Given the description of an element on the screen output the (x, y) to click on. 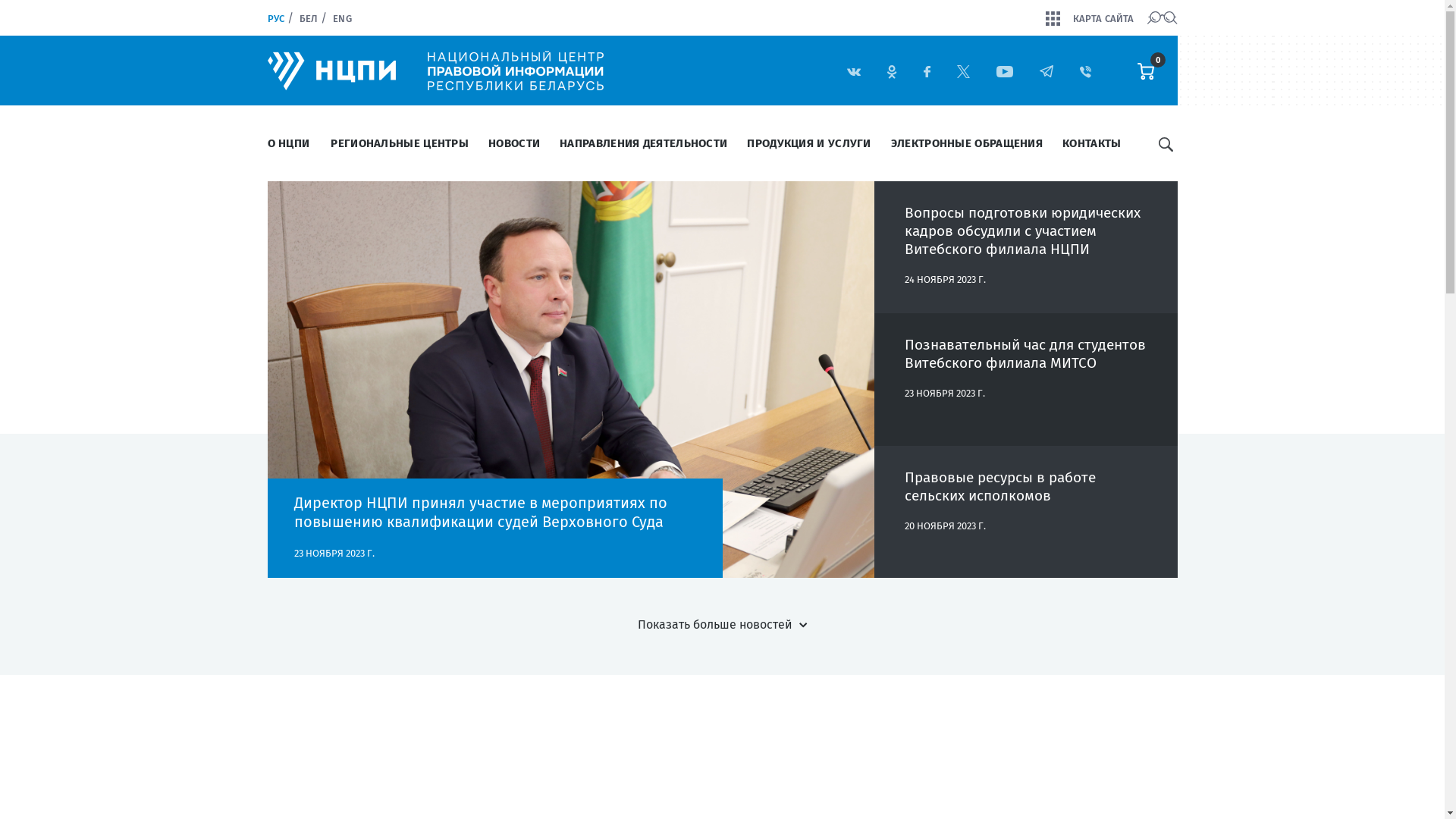
ENG Element type: text (341, 18)
